Given the description of an element on the screen output the (x, y) to click on. 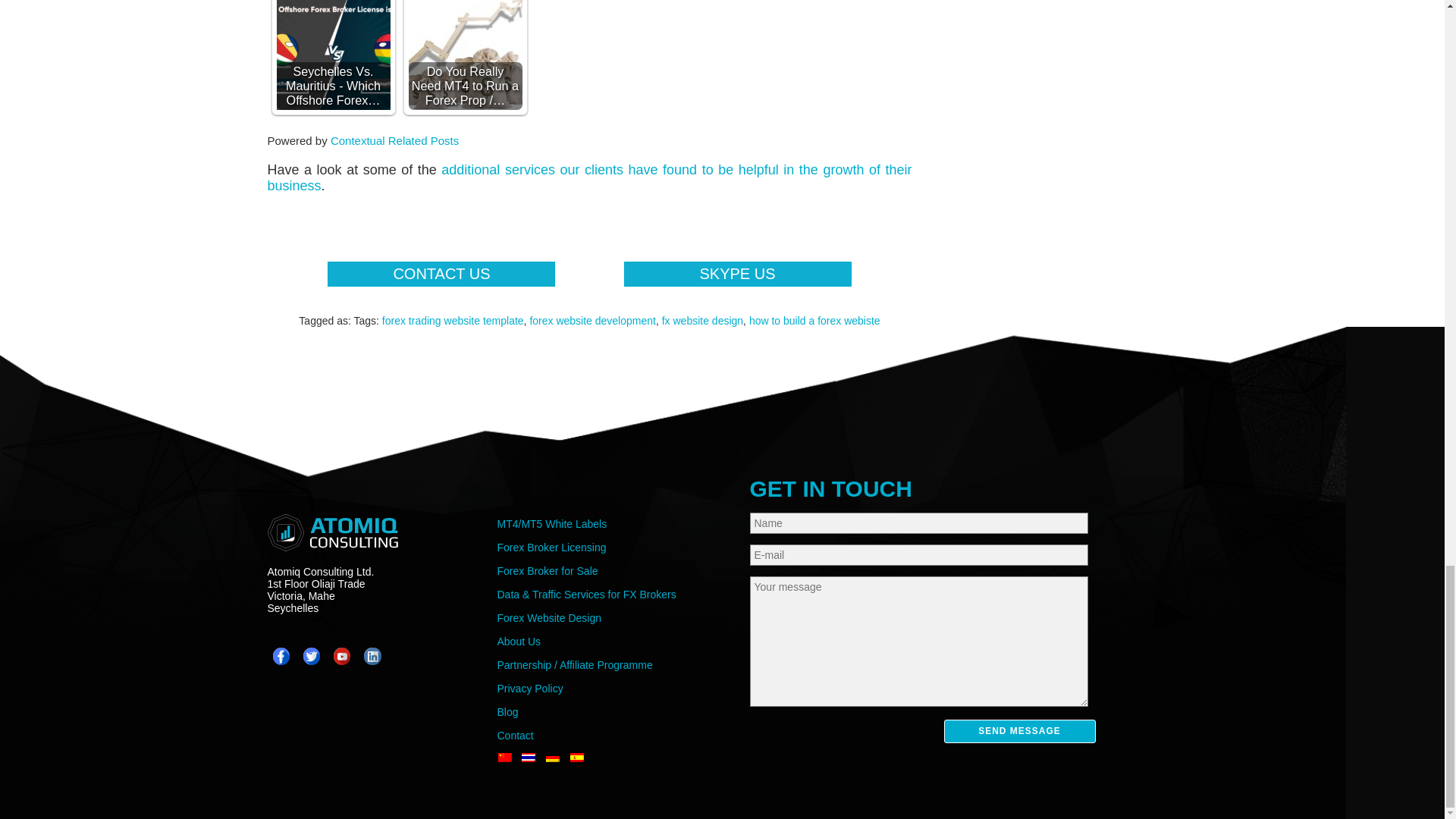
forex website development (592, 320)
CONTACT US (440, 273)
fx website design (702, 320)
Contextual Related Posts (394, 140)
SKYPE US (736, 273)
forex trading website template (452, 320)
how to build a forex webiste (814, 320)
SEND MESSAGE (1018, 730)
